Given the description of an element on the screen output the (x, y) to click on. 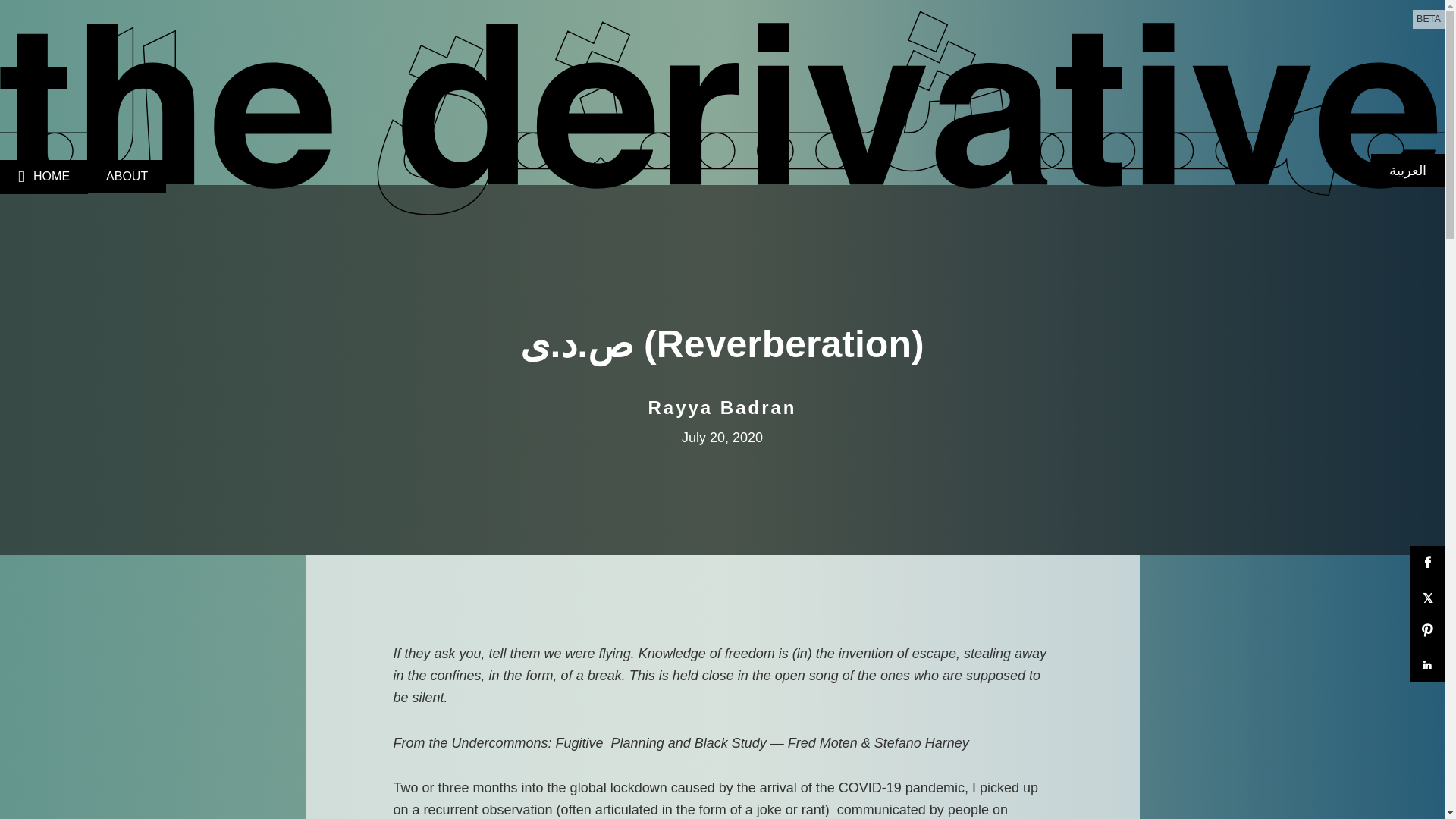
HOME (43, 176)
ABOUT (126, 176)
